Given the description of an element on the screen output the (x, y) to click on. 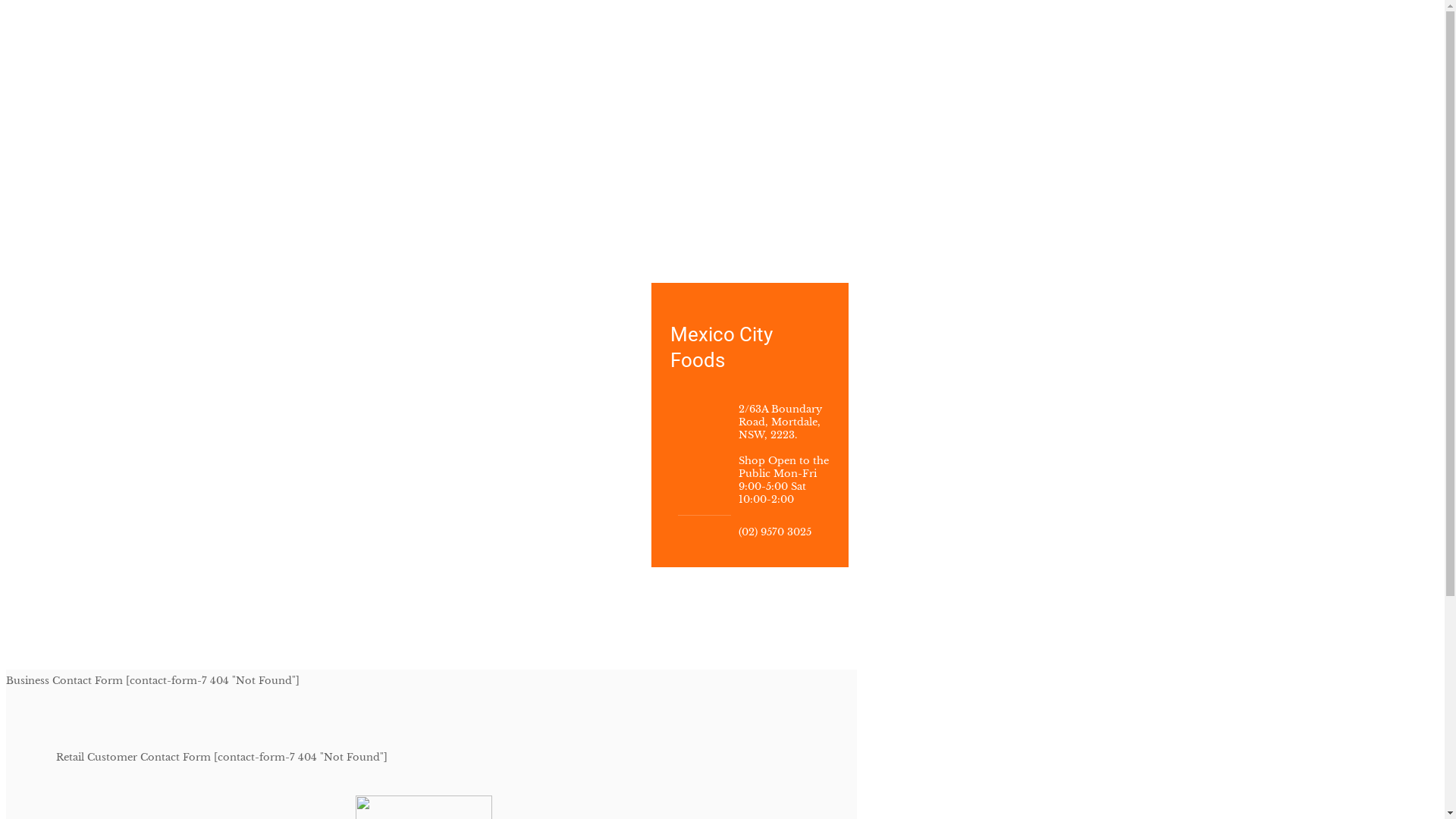
(02) 9570 3025 Element type: text (774, 531)
